Given the description of an element on the screen output the (x, y) to click on. 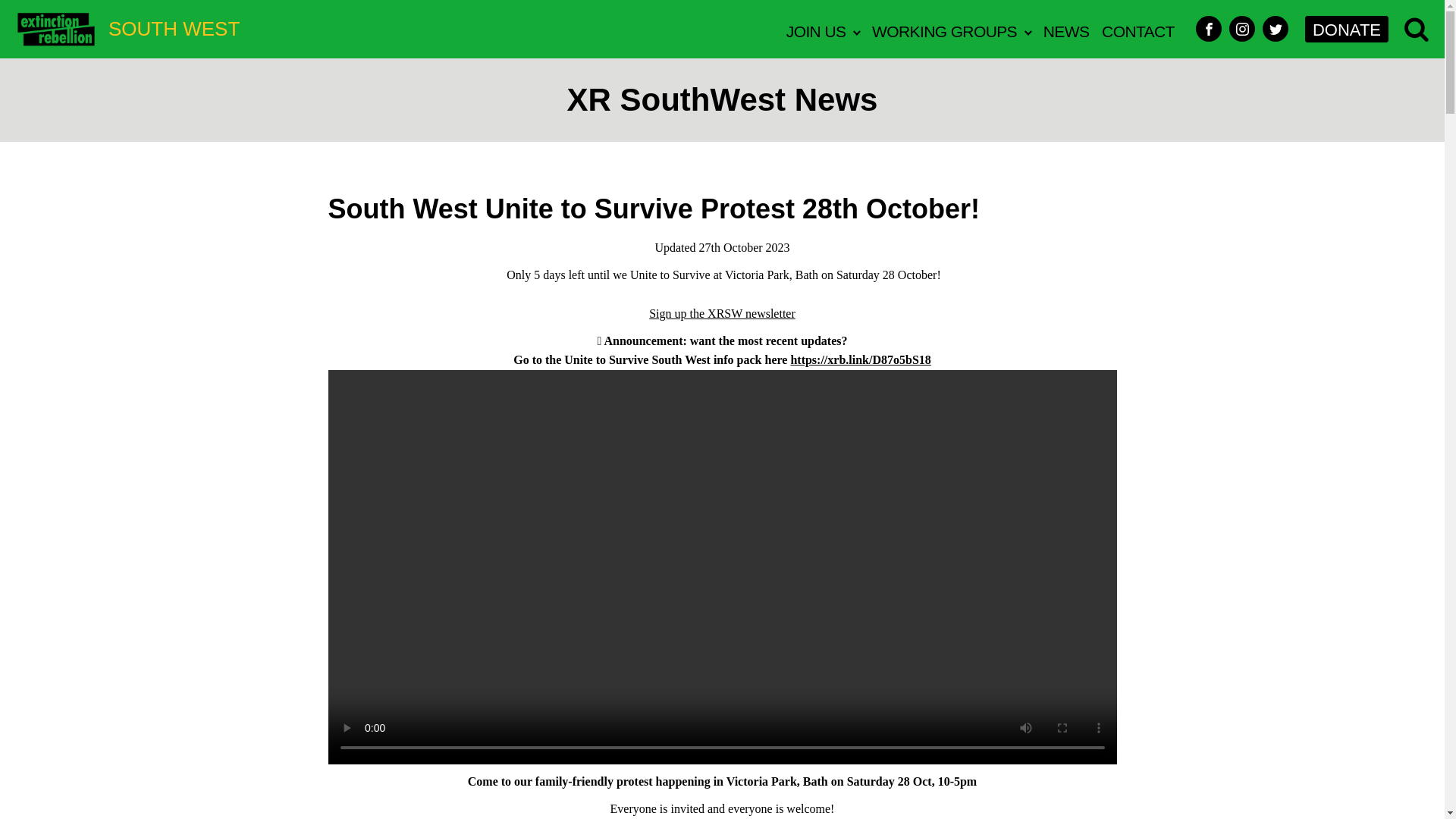
DONATE (1346, 28)
Sign up the XRSW newsletter (721, 313)
SOUTH WEST (127, 29)
CONTACT (1138, 29)
JOIN US (822, 29)
WORKING GROUPS (951, 29)
